Given the description of an element on the screen output the (x, y) to click on. 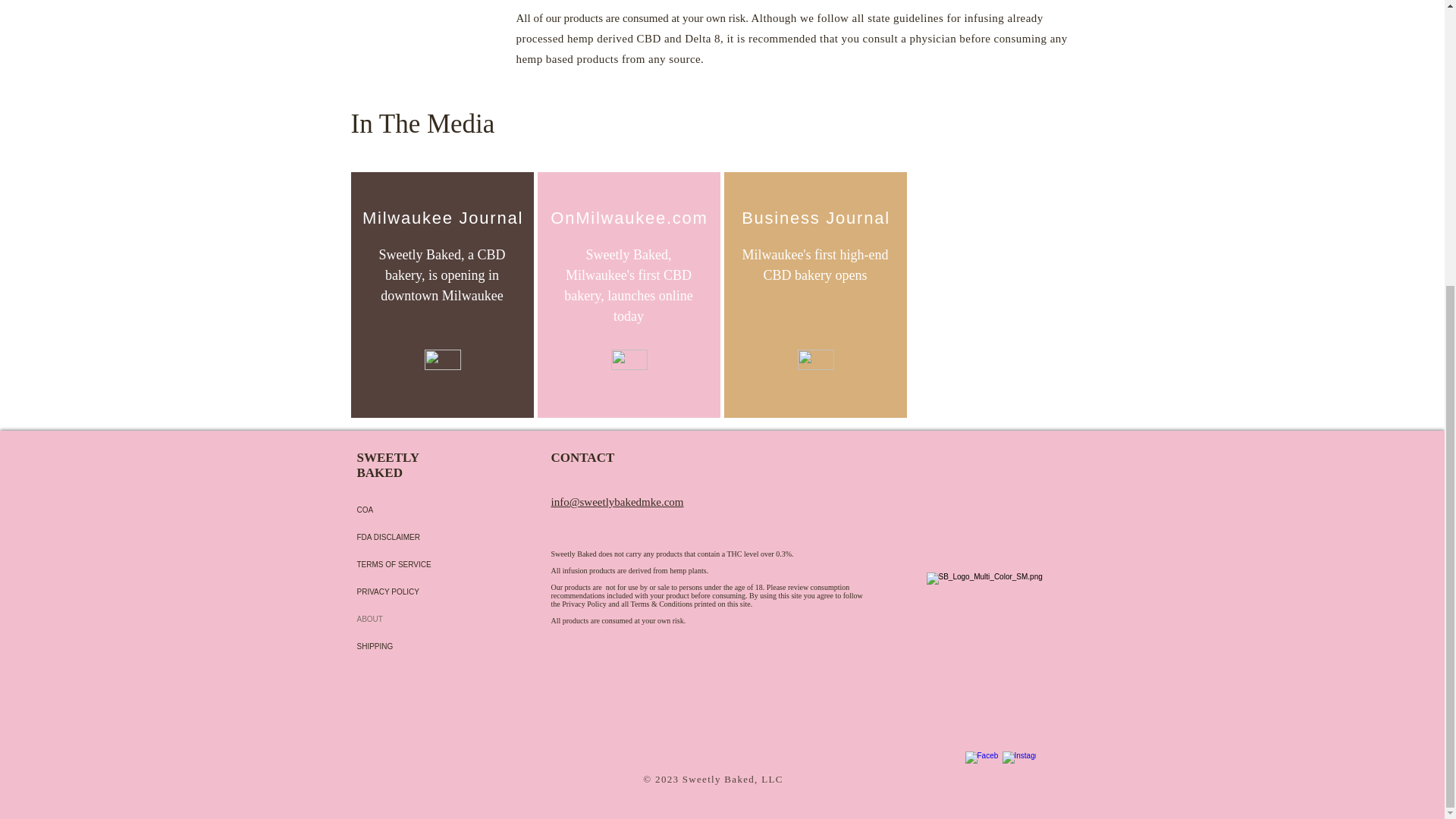
ABOUT (408, 619)
COA (408, 510)
SHIPPING (408, 646)
TERMS OF SERVICE (408, 564)
PRIVACY POLICY (408, 592)
FDA DISCLAIMER (408, 537)
